Given the description of an element on the screen output the (x, y) to click on. 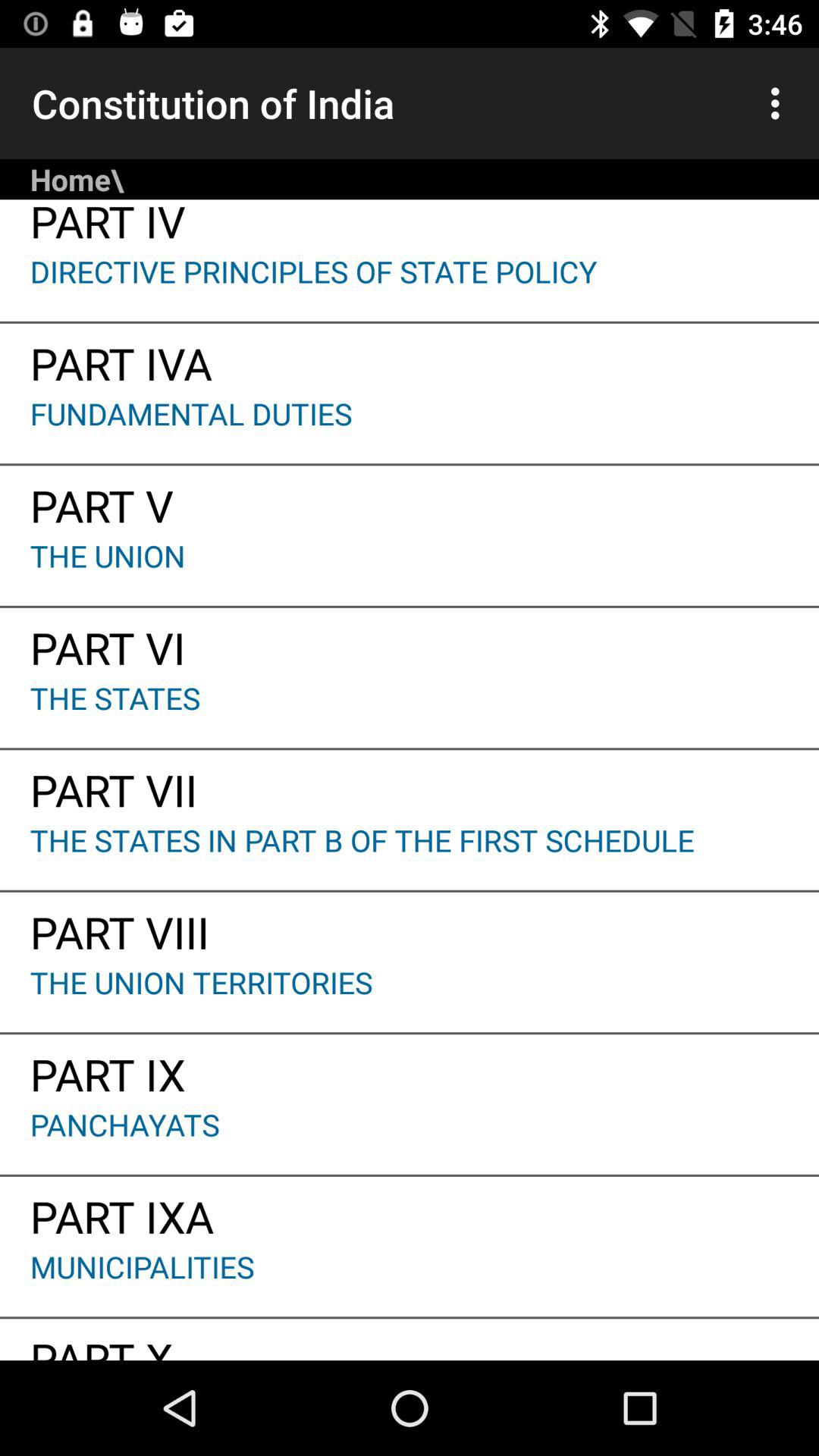
flip to fundamental duties (409, 428)
